Given the description of an element on the screen output the (x, y) to click on. 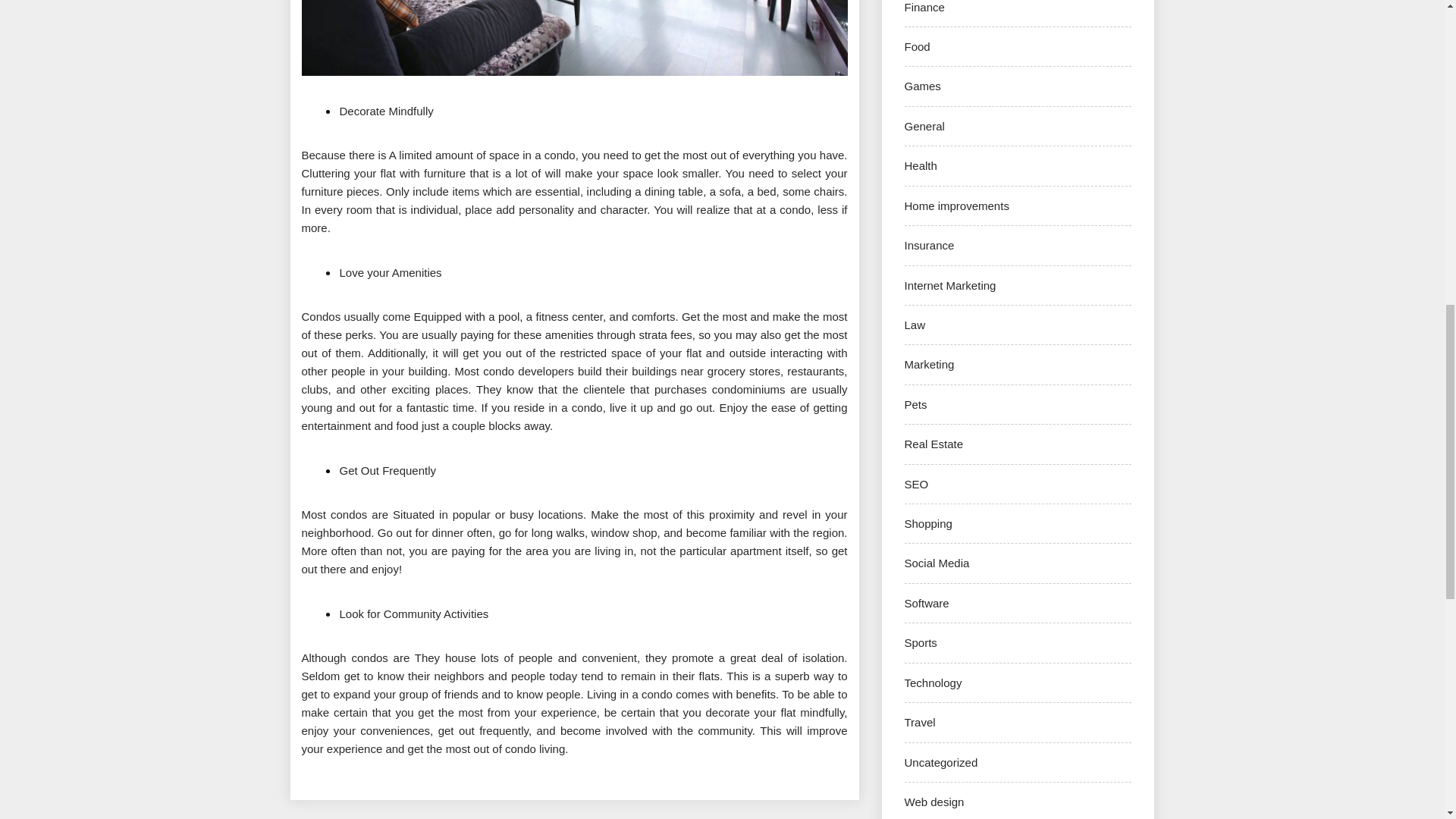
Health (920, 164)
Marketing (928, 364)
Food (917, 46)
Real Estate (933, 443)
Games (922, 85)
Internet Marketing (949, 285)
General (923, 125)
SEO (916, 483)
Shopping (928, 522)
Social Media (936, 562)
